Given the description of an element on the screen output the (x, y) to click on. 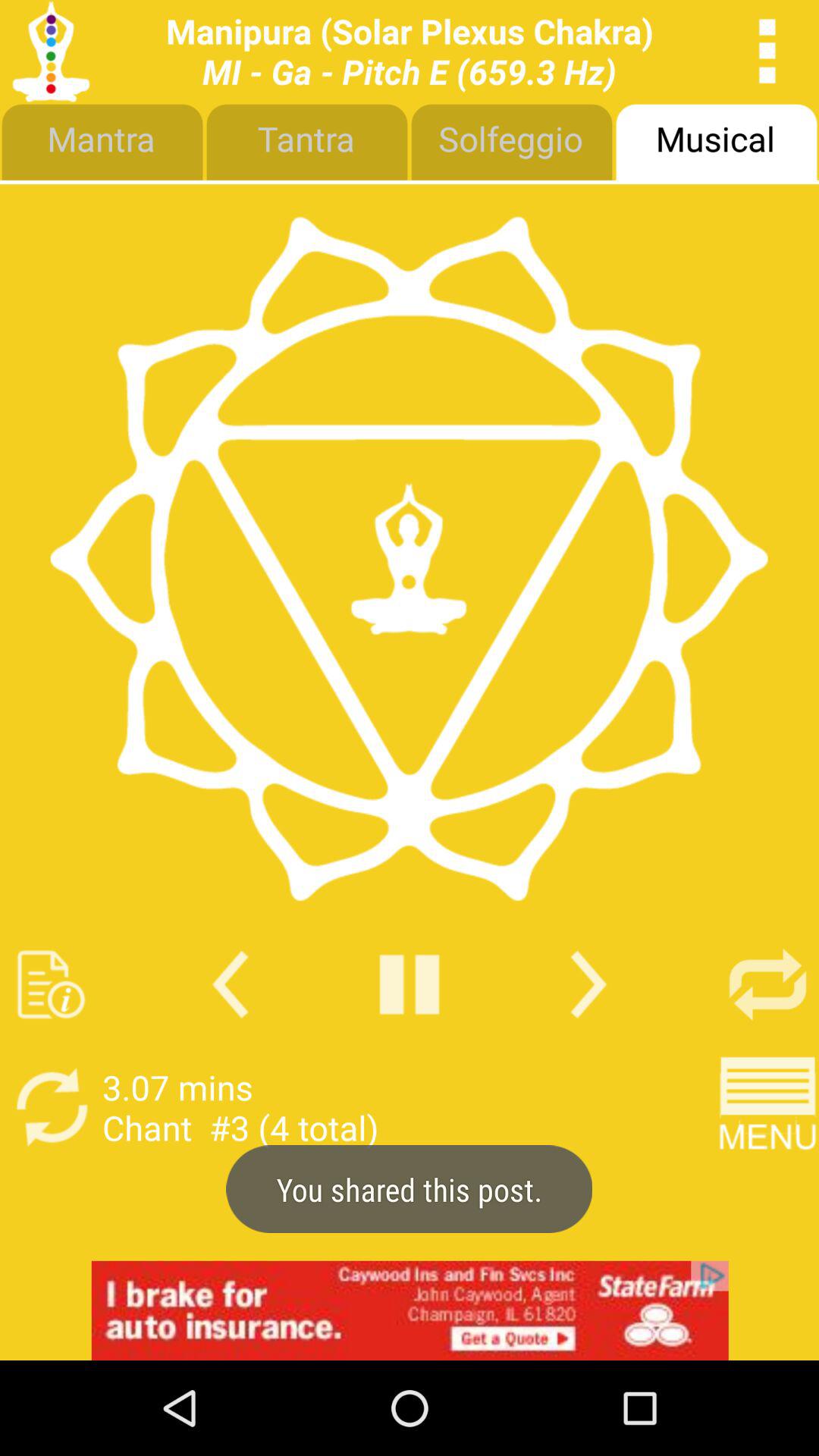
continuous play (767, 984)
